Given the description of an element on the screen output the (x, y) to click on. 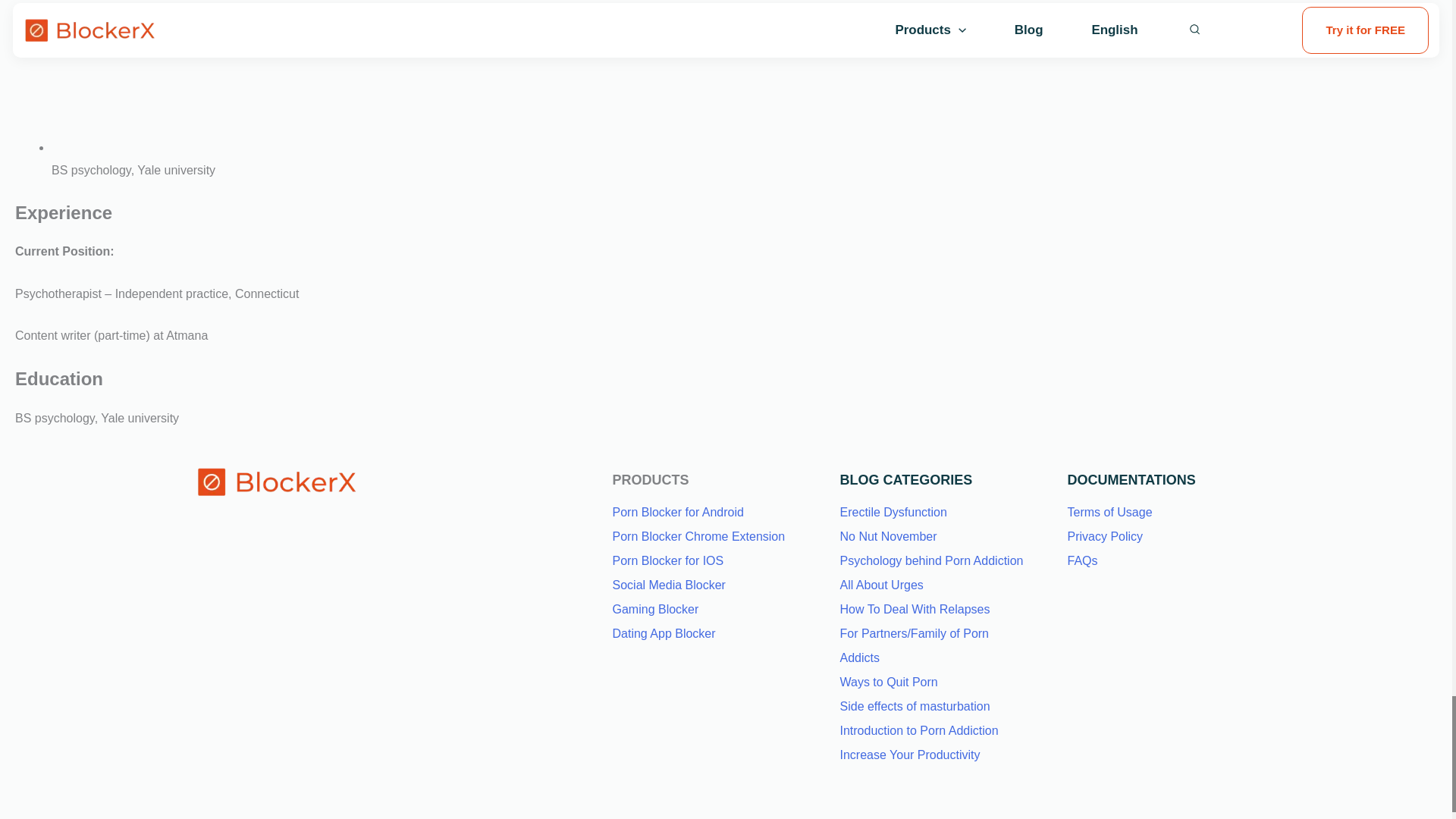
Porn Blocker for IOS (667, 560)
Gaming Blocker (655, 608)
Social Media Blocker (668, 584)
Porn Blocker for Android (678, 512)
Porn Blocker Chrome Extension (699, 535)
